Given the description of an element on the screen output the (x, y) to click on. 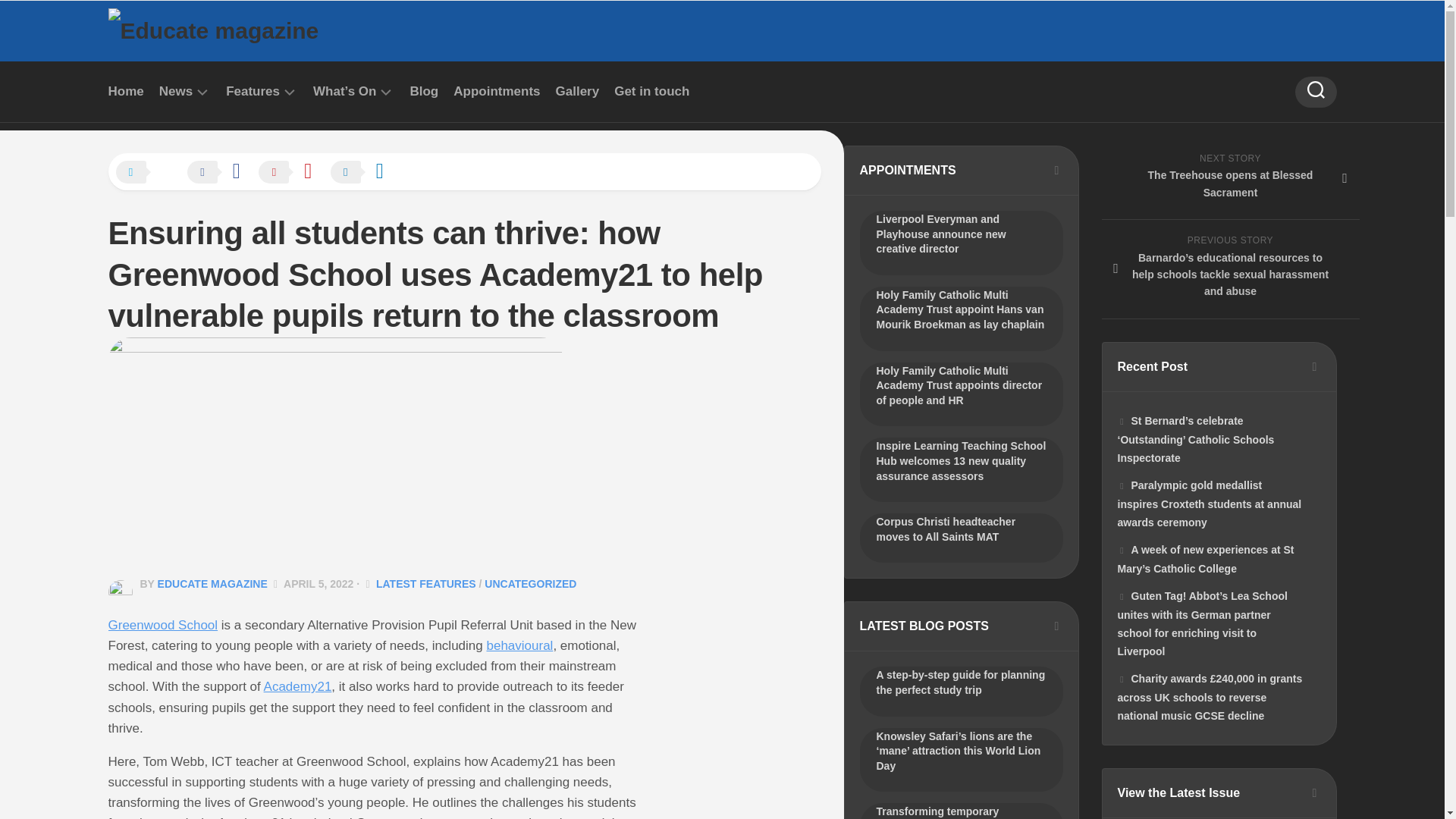
Get in touch (651, 91)
Share on LinkedIn (364, 172)
Share on Facebook (221, 172)
Appointments (496, 91)
LATEST FEATURES (425, 583)
Share on Pinterest (292, 172)
UNCATEGORIZED (530, 583)
EDUCATE MAGAZINE (212, 583)
Posts by Educate Magazine (212, 583)
Features (252, 91)
